Given the description of an element on the screen output the (x, y) to click on. 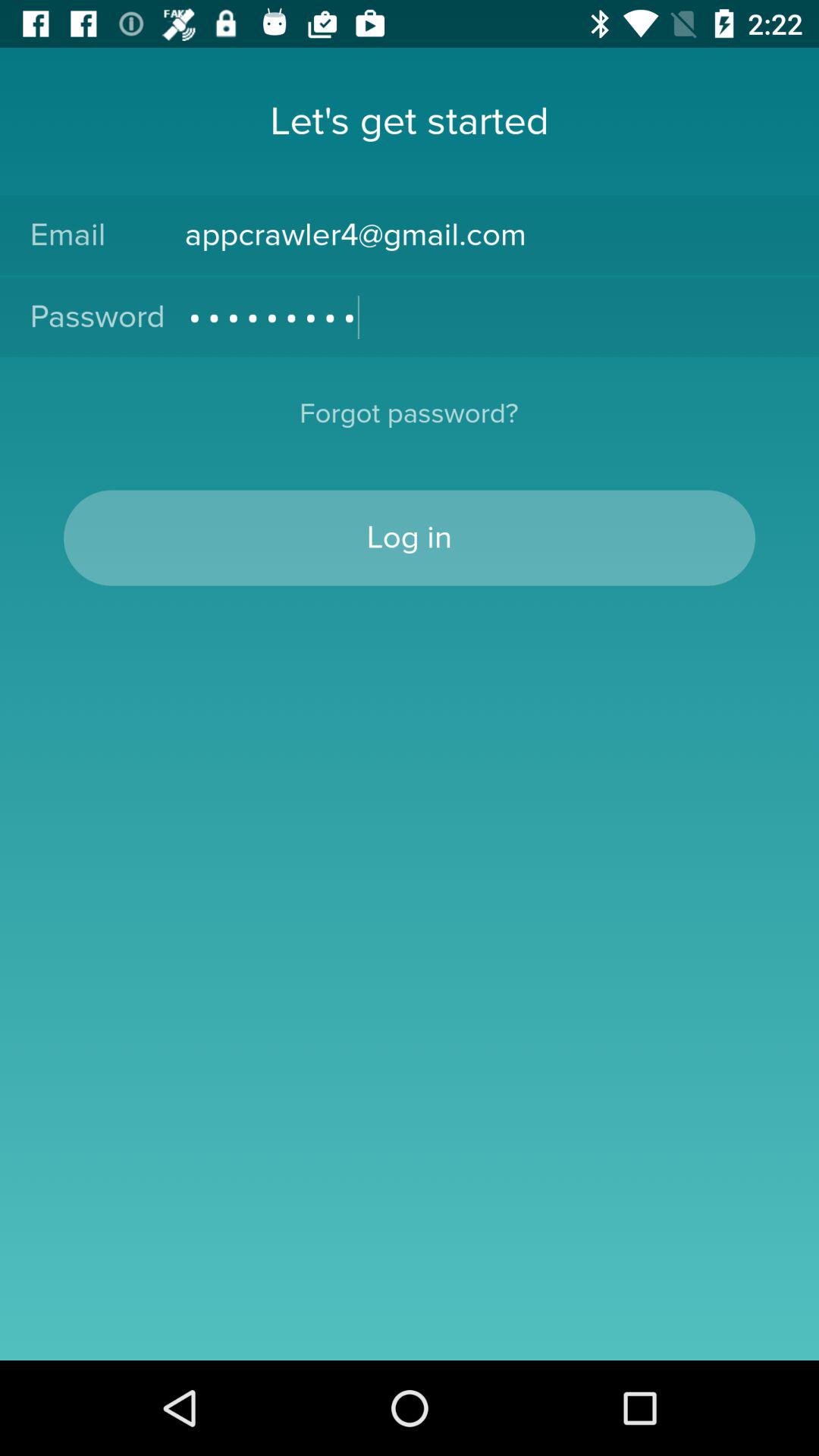
open the appcrawler4@gmail.com icon (486, 235)
